Given the description of an element on the screen output the (x, y) to click on. 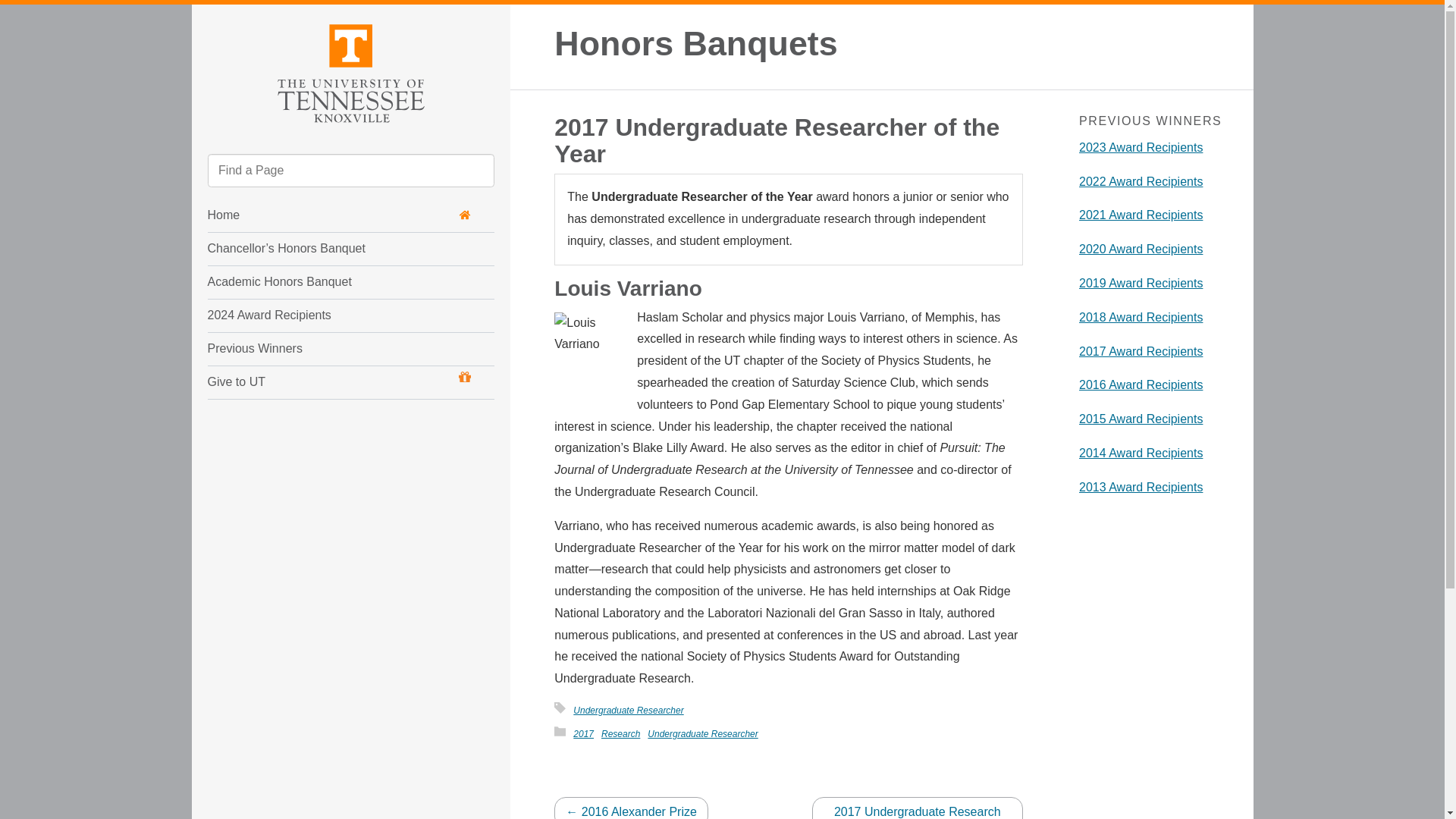
Undergraduate Researcher (702, 733)
2021 Award Recipients (1140, 214)
2013 Award Recipients (1140, 486)
2023 Award Recipients (1140, 146)
2020 Award Recipients (1140, 248)
2022 Award Recipients (1140, 181)
2014 Award Recipients (1140, 452)
Academic Honors Banquet (322, 282)
Previous Winners (322, 348)
2016 Award Recipients (1140, 384)
Research (620, 733)
2019 Award Recipients (1140, 282)
Skip to content (204, 17)
Skip to content (204, 17)
